Given the description of an element on the screen output the (x, y) to click on. 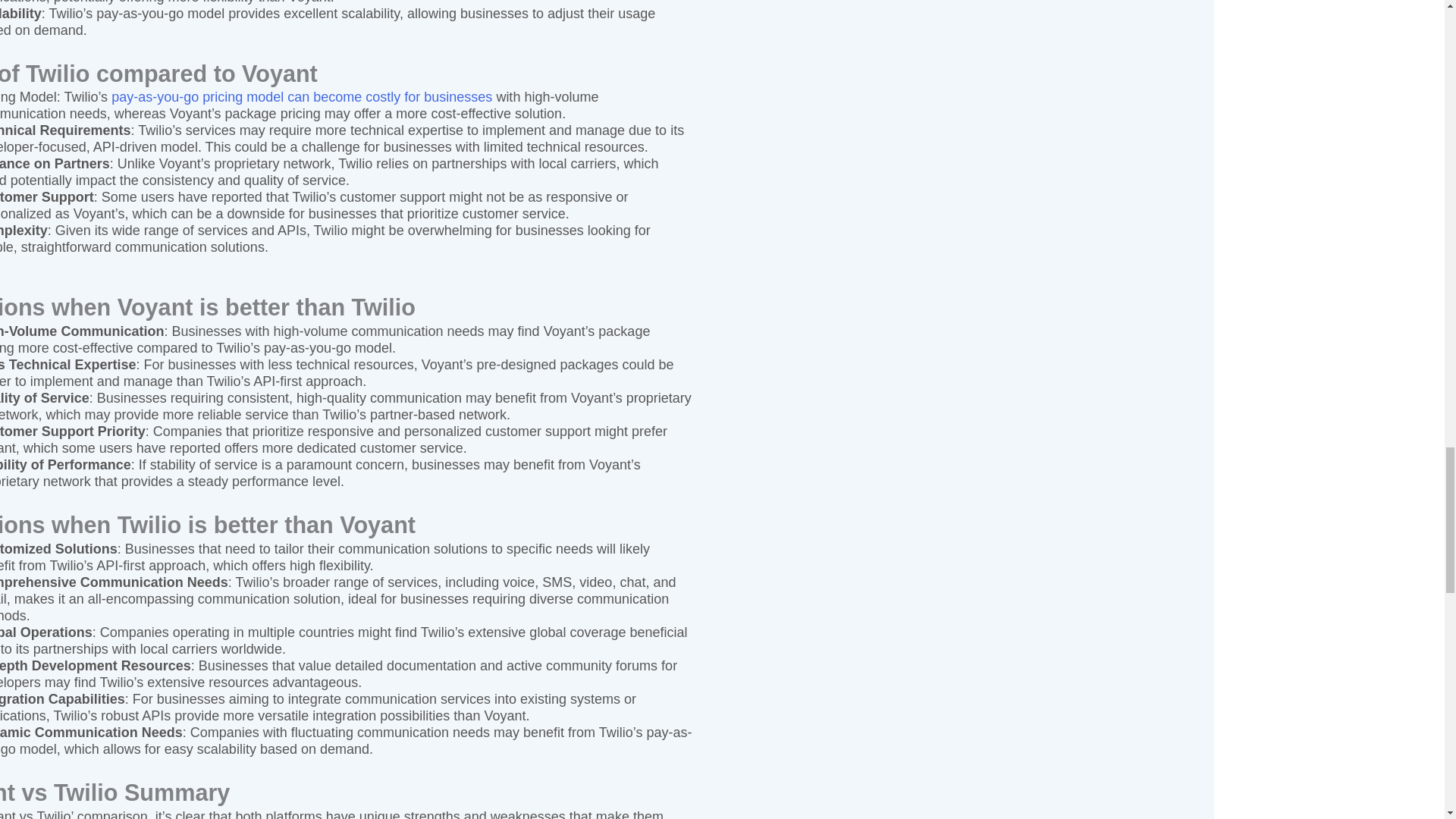
pay-as-you-go pricing model can become costly for businesses (302, 96)
